Given the description of an element on the screen output the (x, y) to click on. 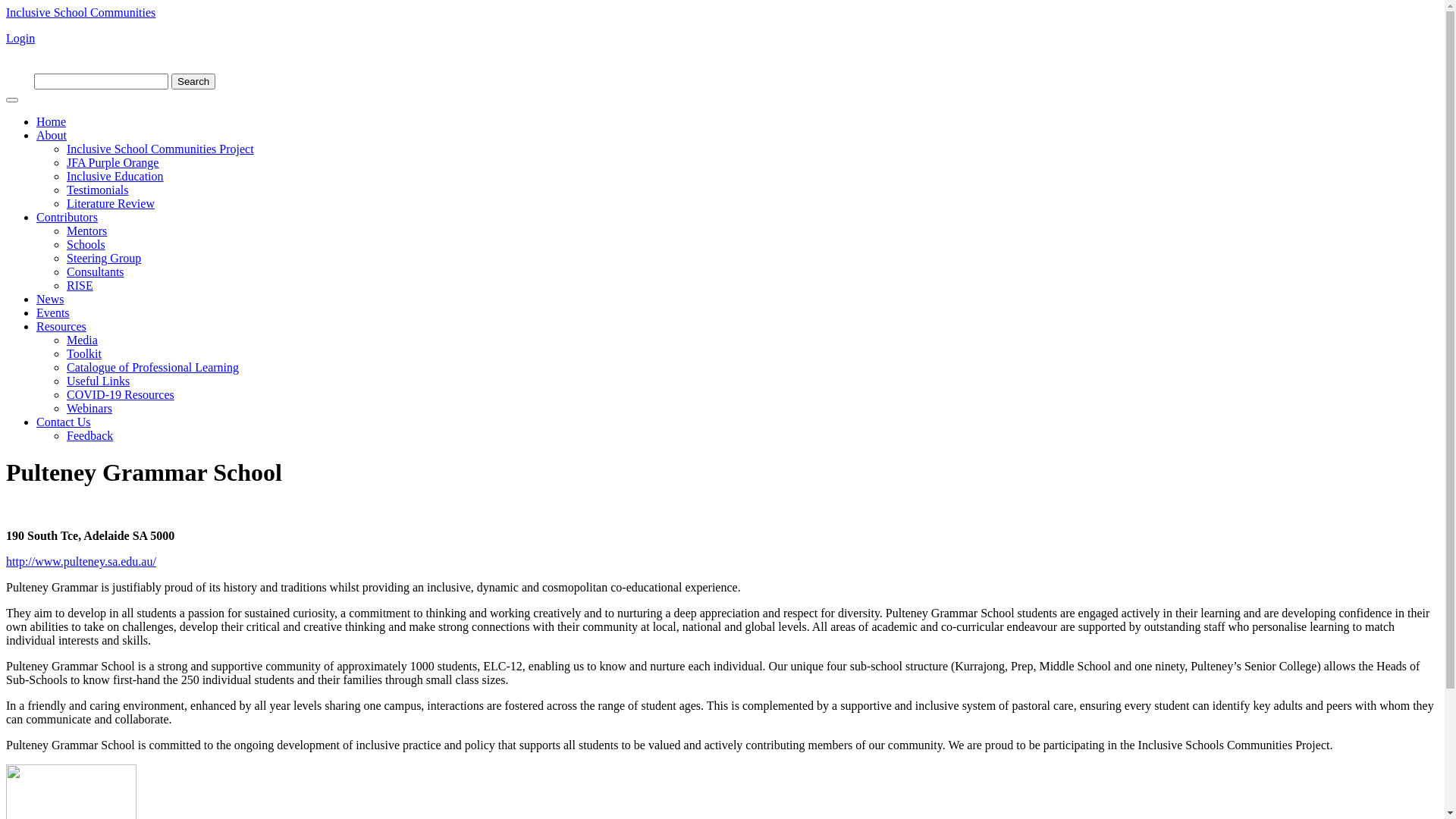
Mentors Element type: text (86, 230)
Useful Links Element type: text (97, 380)
http://www.pulteney.sa.edu.au/ Element type: text (81, 561)
Toolkit Element type: text (83, 353)
Testimonials Element type: text (97, 189)
Webinars Element type: text (89, 407)
Inclusive School Communities Element type: text (80, 12)
Resources Element type: text (61, 326)
Inclusive Education Element type: text (114, 175)
About Element type: text (51, 134)
Login Element type: text (20, 37)
Search Element type: text (193, 81)
Literature Review Element type: text (110, 203)
Steering Group Element type: text (103, 257)
JFA Purple Orange Element type: text (112, 162)
Contact Us Element type: text (63, 421)
Catalogue of Professional Learning Element type: text (152, 366)
Feedback Element type: text (89, 435)
Events Element type: text (52, 312)
Home Element type: text (50, 121)
RISE Element type: text (79, 285)
COVID-19 Resources Element type: text (120, 394)
Contributors Element type: text (66, 216)
Schools Element type: text (85, 244)
Media Element type: text (81, 339)
Consultants Element type: text (95, 271)
News Element type: text (49, 298)
Inclusive School Communities Project Element type: text (160, 148)
